Given the description of an element on the screen output the (x, y) to click on. 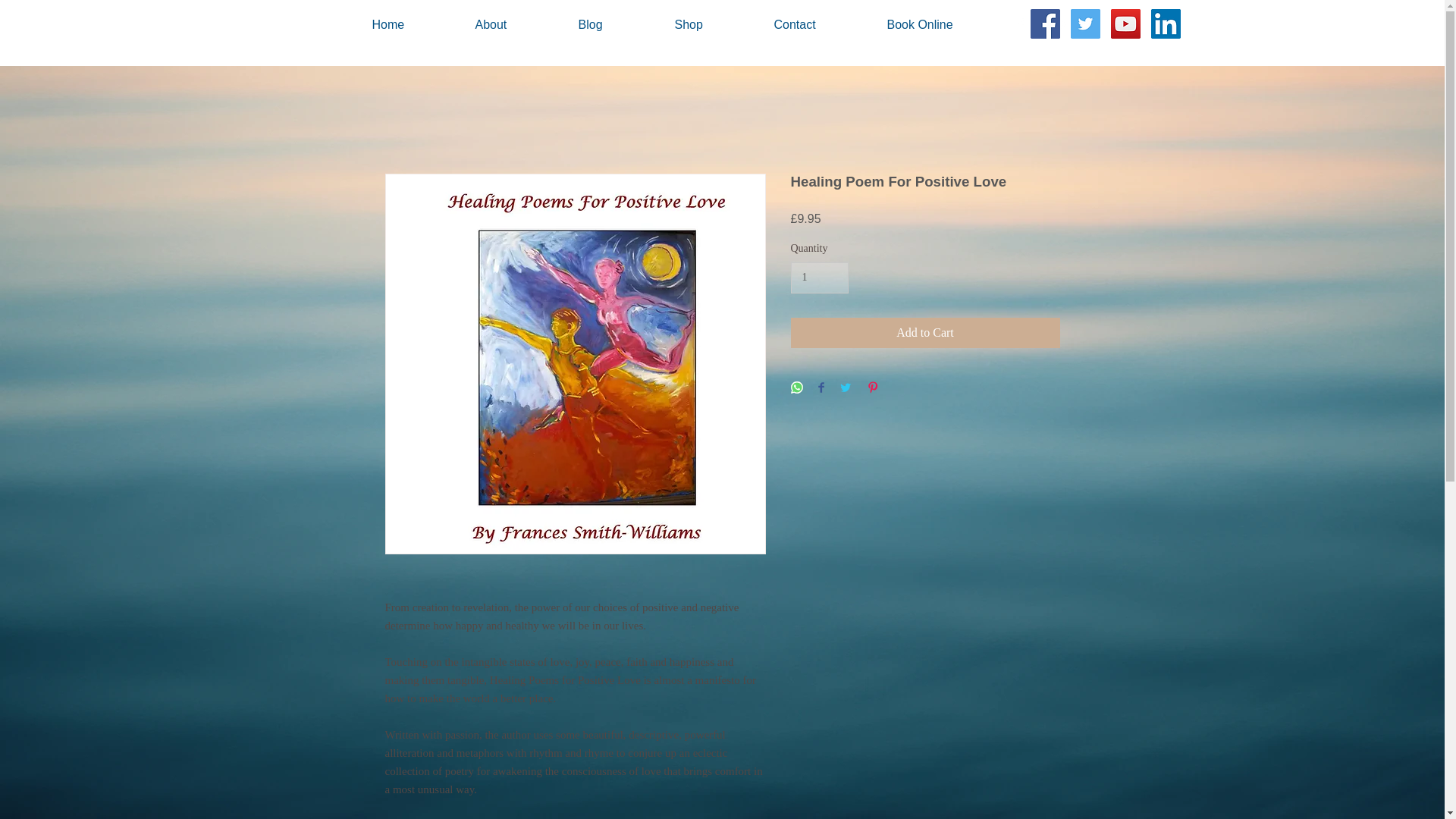
Home (415, 24)
Shop (716, 24)
1 (818, 277)
About (518, 24)
Add to Cart (924, 332)
Contact (822, 24)
Book Online (947, 24)
Blog (618, 24)
